Given the description of an element on the screen output the (x, y) to click on. 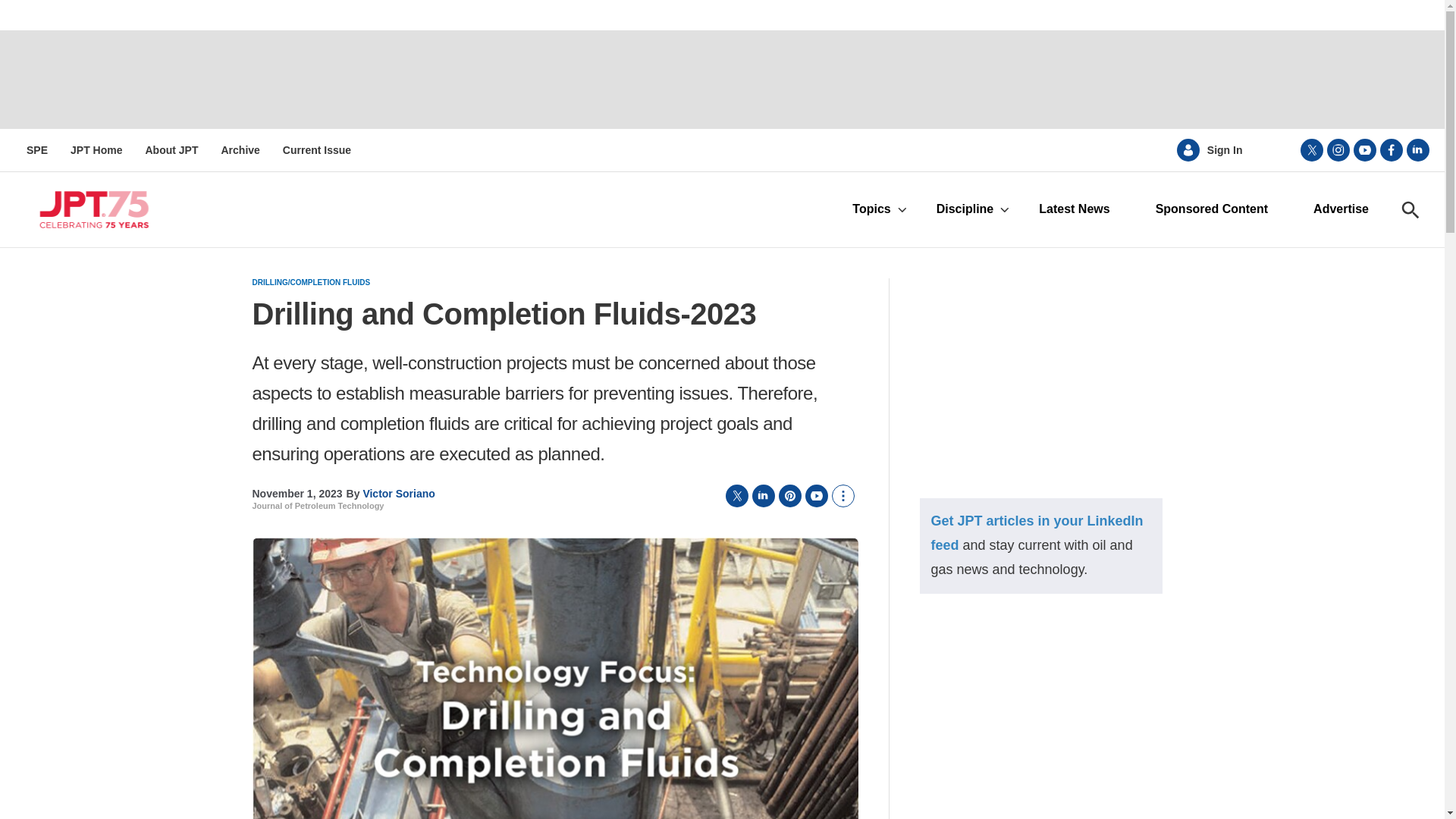
linkedin (1417, 149)
JPT Home (95, 150)
3rd party ad content (1040, 372)
3rd party ad content (1040, 721)
Sign In (1225, 150)
3rd party ad content (721, 79)
About JPT (171, 150)
Archive (240, 150)
twitter (1311, 149)
youtube (1364, 149)
